Given the description of an element on the screen output the (x, y) to click on. 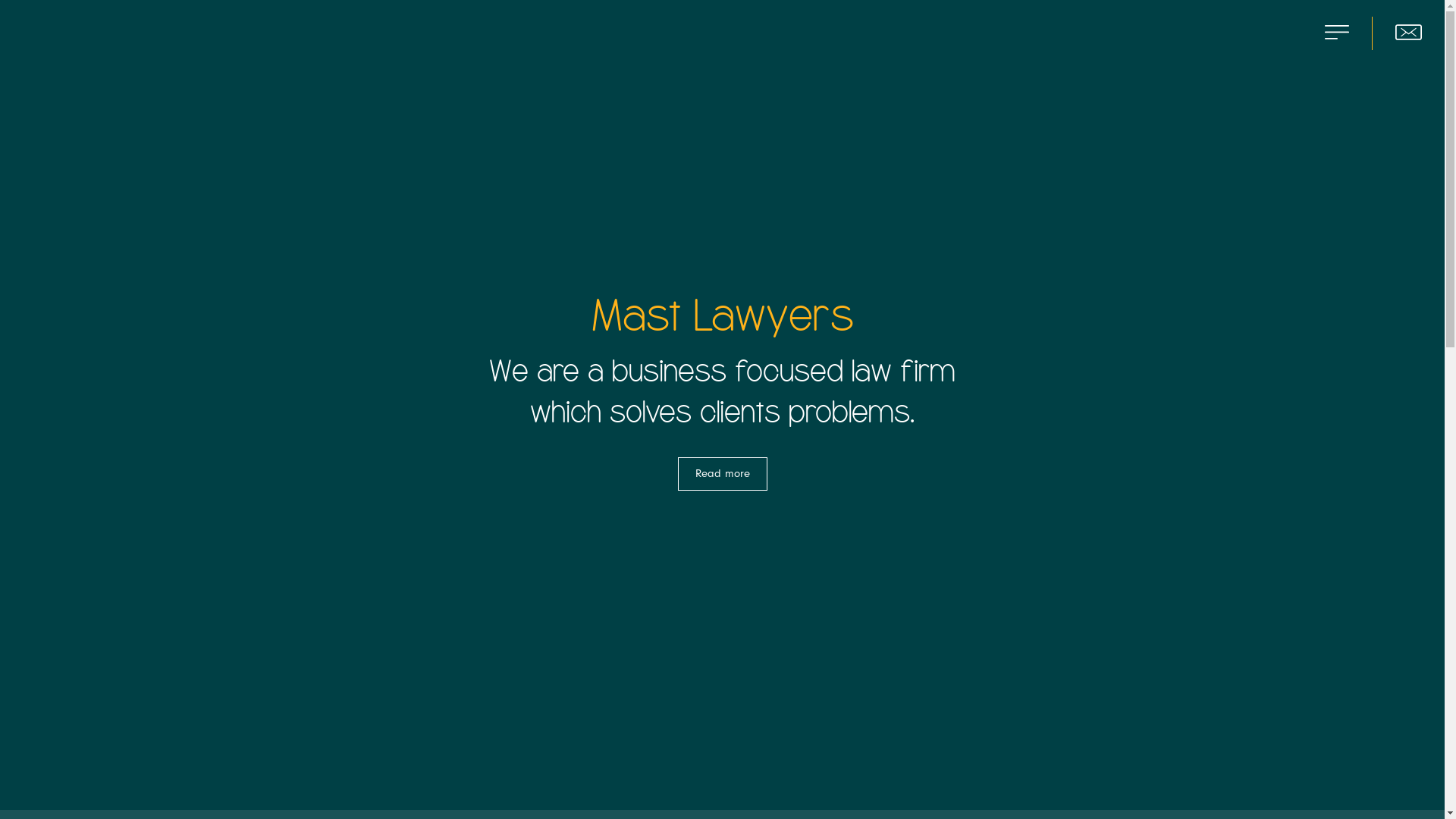
Read more Element type: text (722, 473)
